Given the description of an element on the screen output the (x, y) to click on. 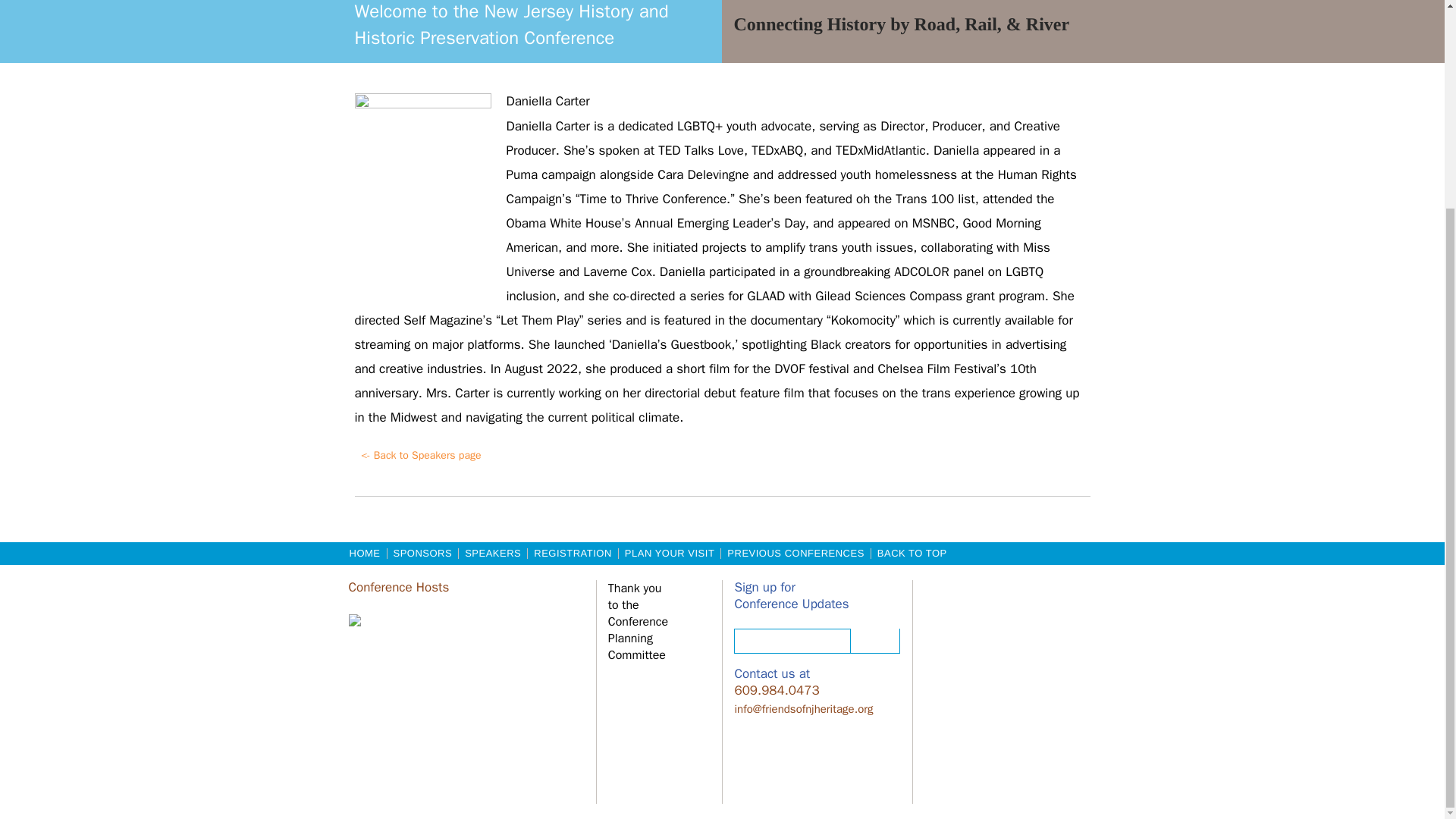
BACK TO TOP (911, 552)
609.984.0473 (775, 691)
Back to Speakers page (421, 457)
REGISTRATION (572, 552)
BACK TO TOP (911, 552)
HOME (363, 552)
PLAN YOUR VISIT (669, 552)
SPONSORS (422, 552)
SPEAKERS (492, 552)
PREVIOUS CONFERENCES (794, 552)
